Given the description of an element on the screen output the (x, y) to click on. 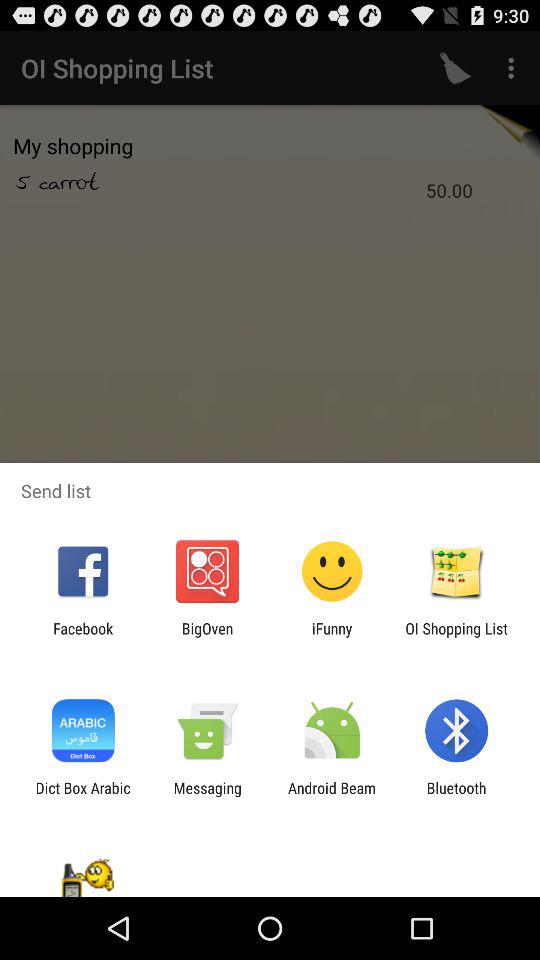
tap the facebook (83, 637)
